Given the description of an element on the screen output the (x, y) to click on. 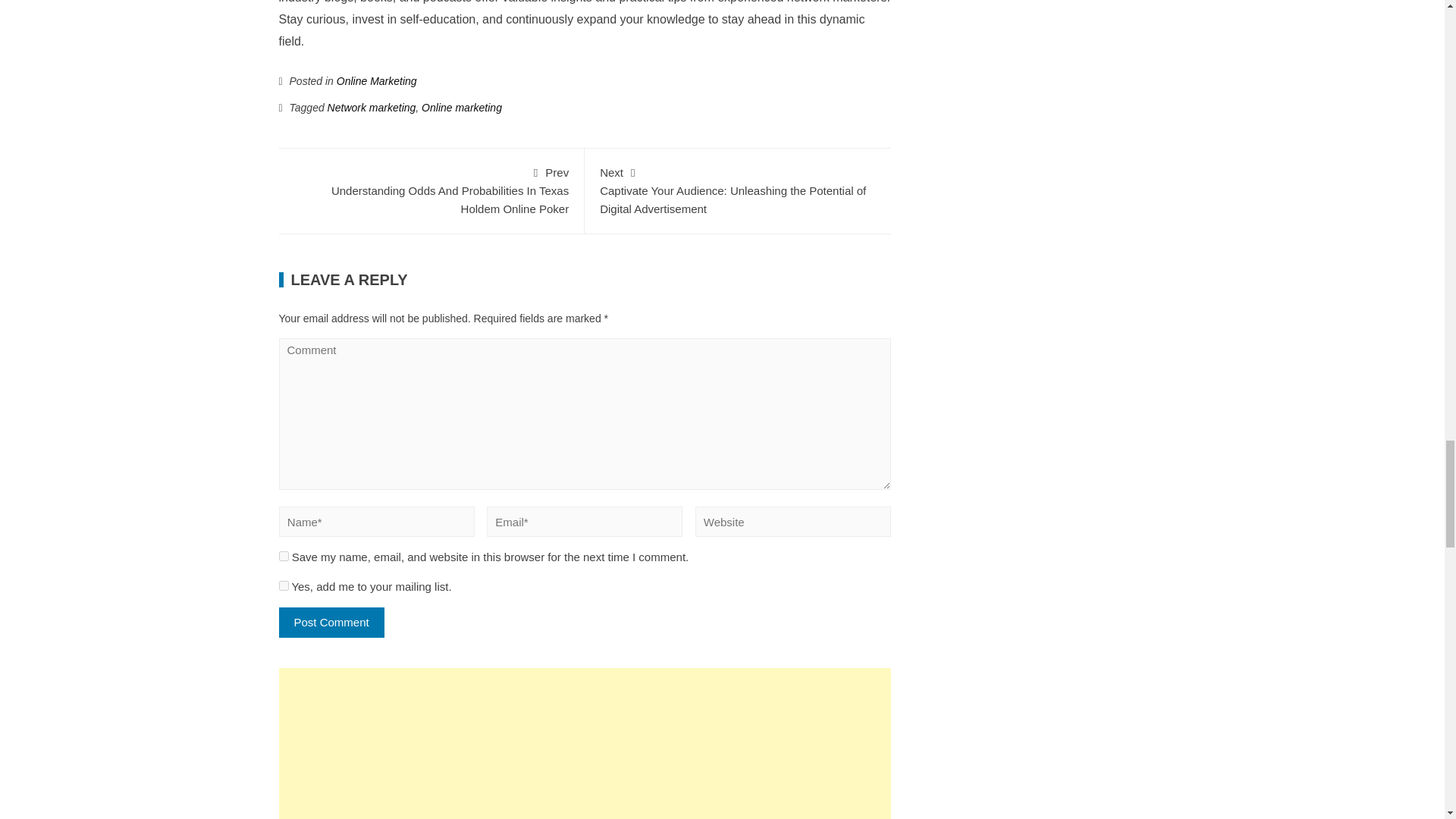
Post Comment (331, 622)
yes (283, 556)
Online marketing (462, 107)
Online Marketing (376, 80)
1 (283, 585)
Network marketing (371, 107)
Post Comment (331, 622)
